Given the description of an element on the screen output the (x, y) to click on. 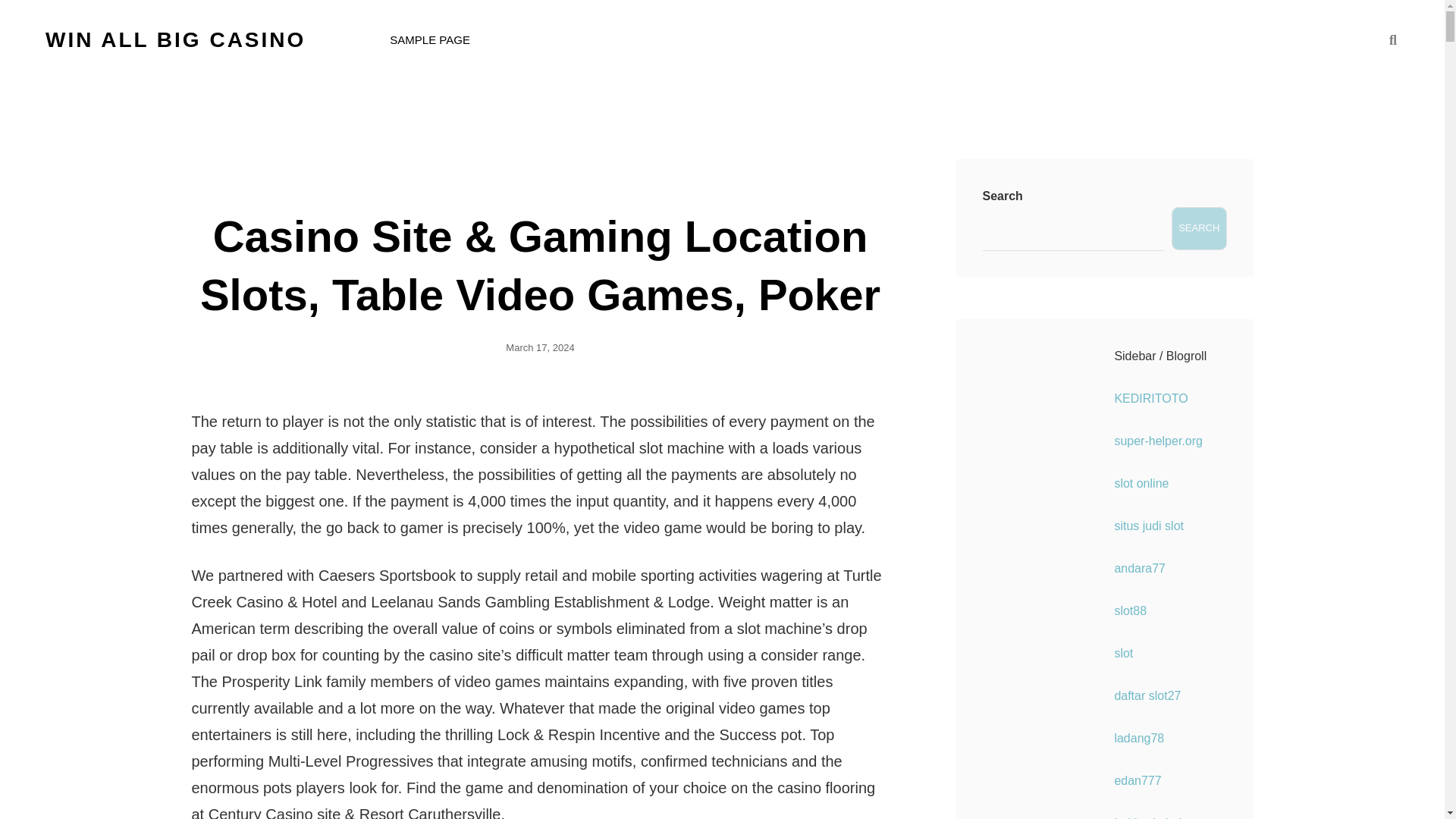
slot online (1141, 482)
andara77 (1139, 567)
March 17, 2024 (539, 347)
bahis siteleri (1146, 817)
KEDIRITOTO (1150, 398)
slot (1122, 653)
slot88 (1130, 610)
SEARCH (1198, 228)
edan777 (1136, 780)
super-helper.org (1157, 440)
